Given the description of an element on the screen output the (x, y) to click on. 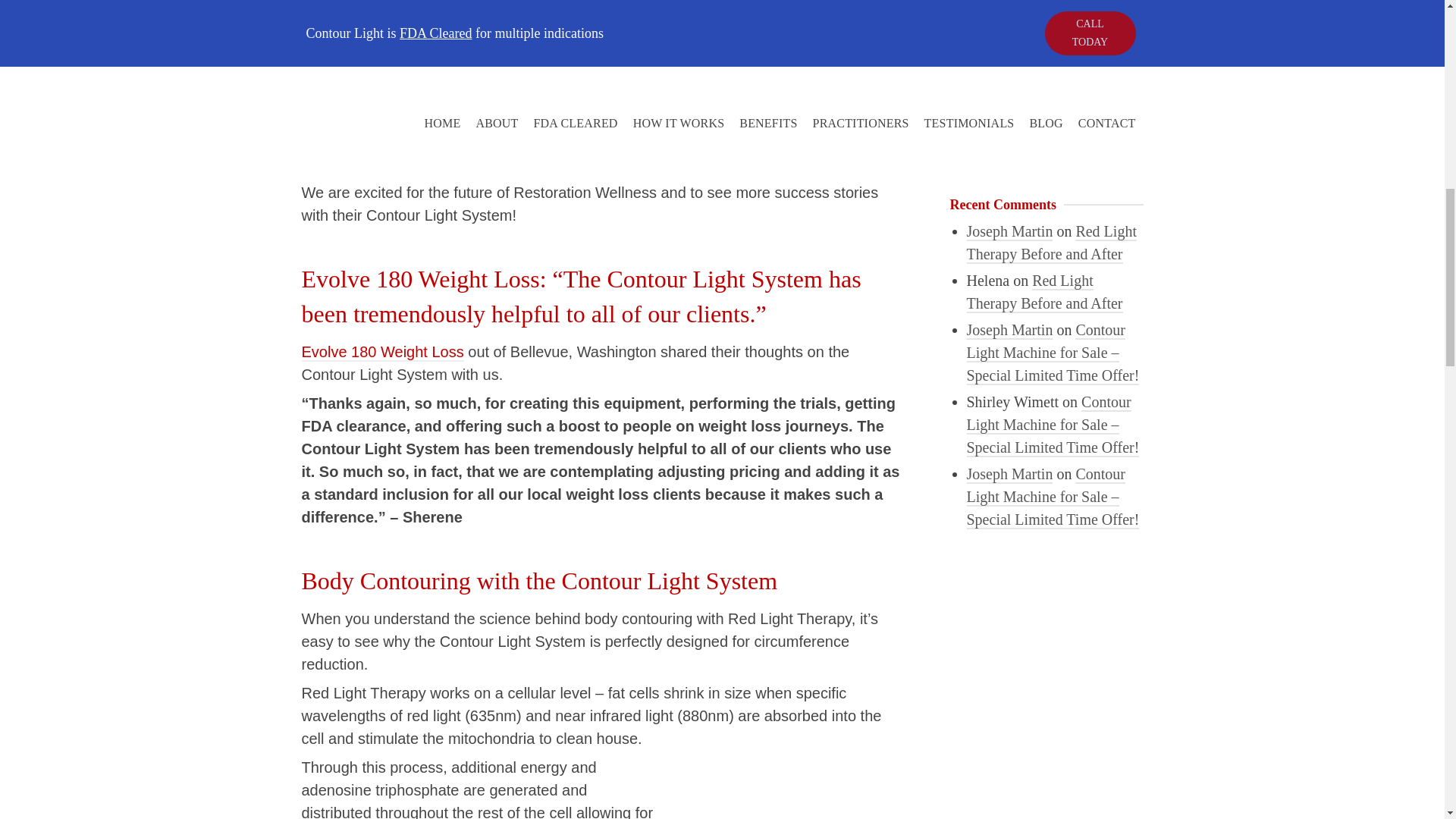
Restoration Wellness (373, 7)
Evolve 180 Weight Loss (382, 352)
